Given the description of an element on the screen output the (x, y) to click on. 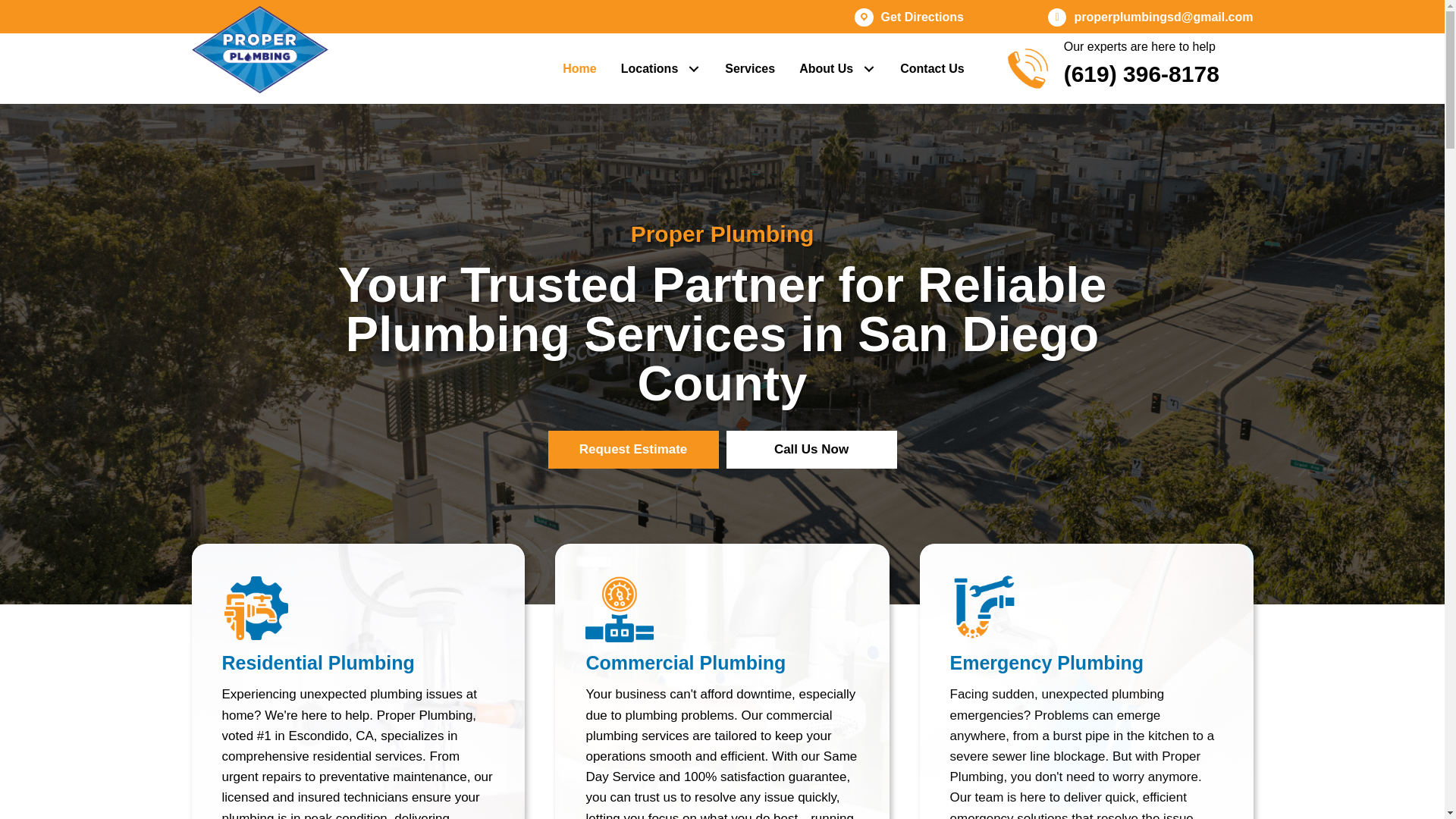
Proper-Plumbing-Logo (259, 48)
Call Us Now (811, 449)
Request Estimate (632, 449)
Call-icon (1027, 68)
Plumbing Maintenance Icon (255, 608)
Drain Cleaning (983, 608)
Get Directions (921, 16)
About Us (837, 68)
Commercial Plumbing Icon (619, 608)
Contact Us (931, 68)
Home (579, 68)
Services (750, 68)
Locations (660, 68)
